Given the description of an element on the screen output the (x, y) to click on. 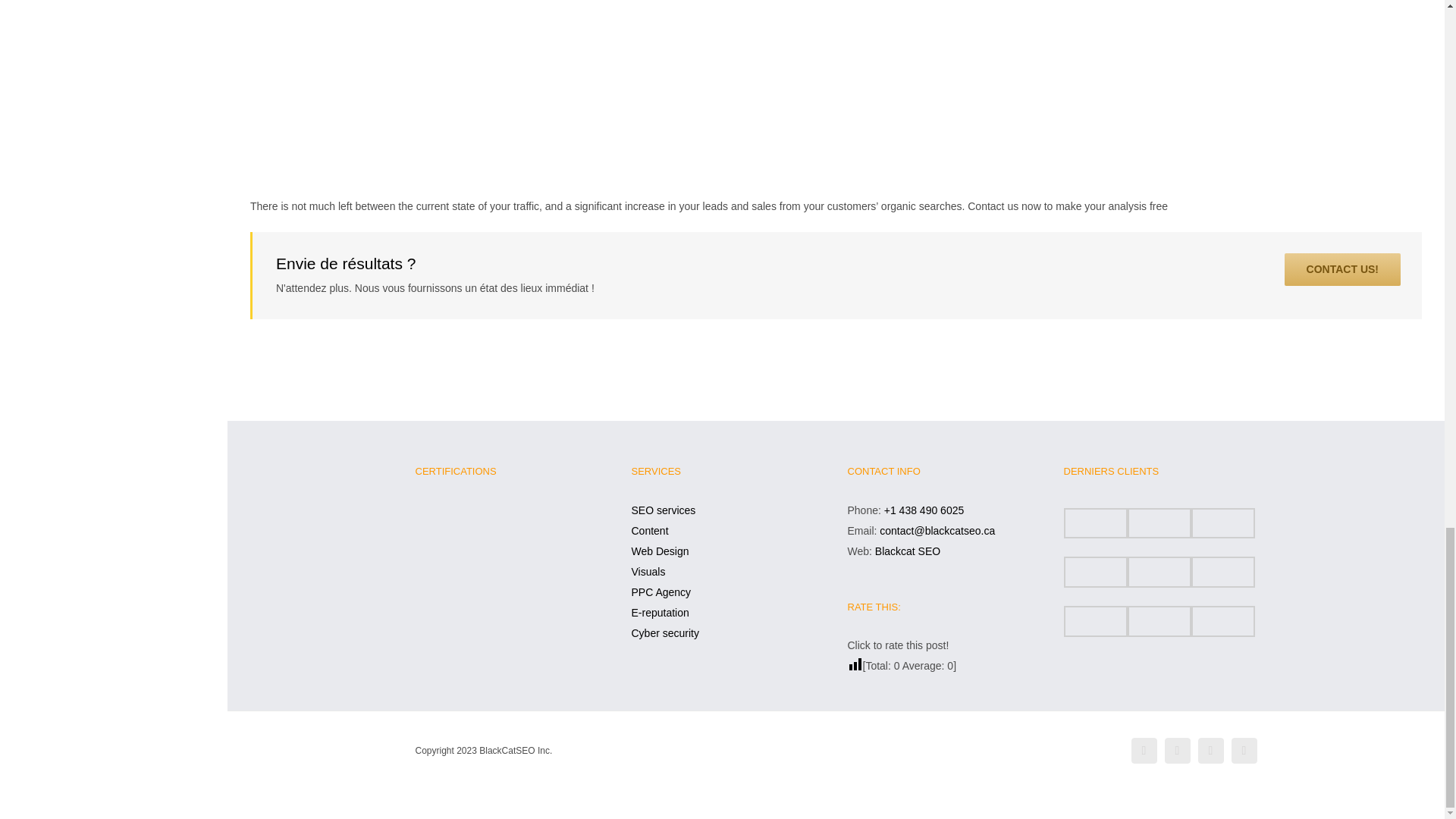
Email (1144, 750)
Facebook (1244, 750)
LinkedIn (1177, 750)
Instagram (1211, 750)
Certifications (511, 567)
